Given the description of an element on the screen output the (x, y) to click on. 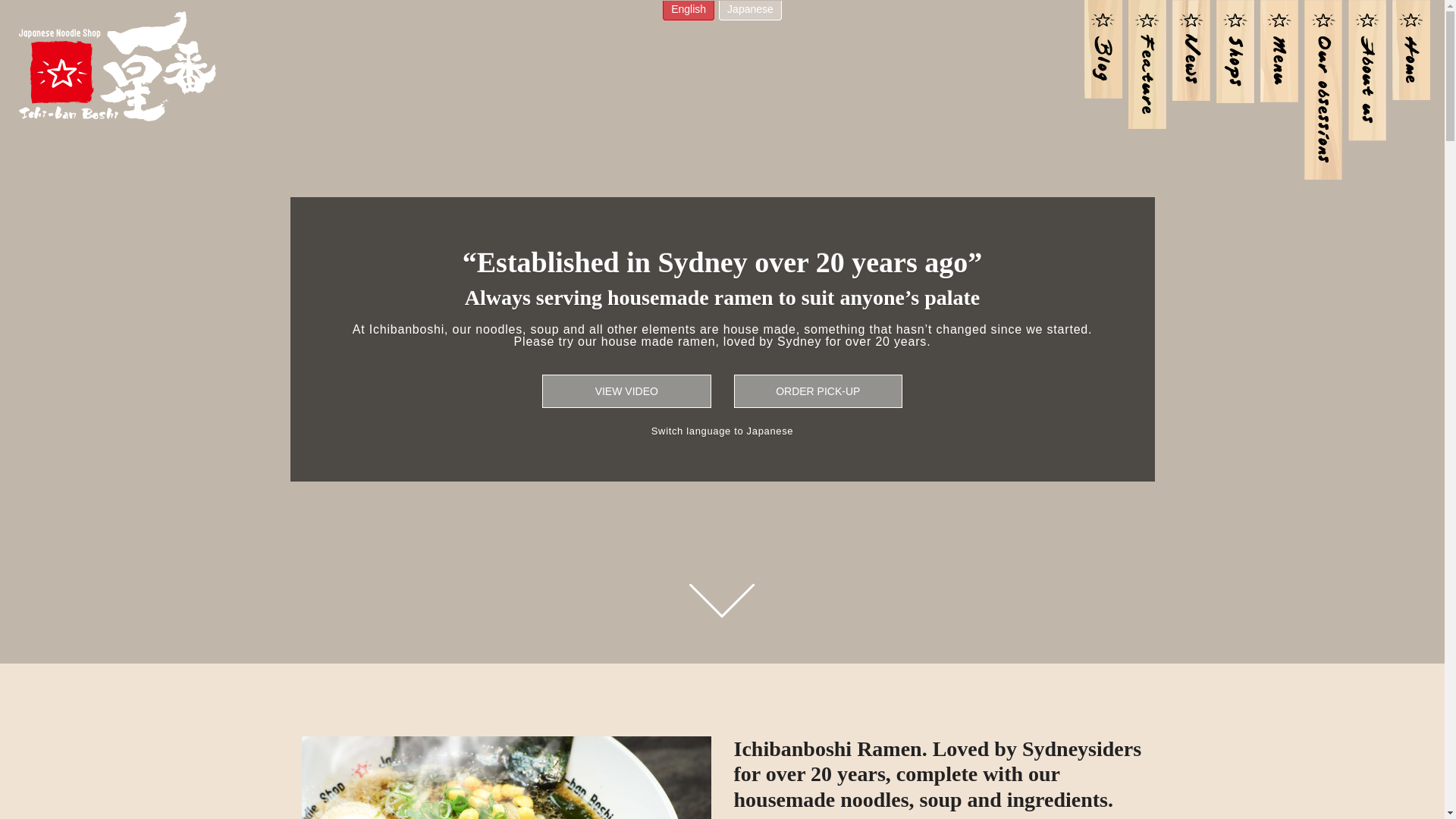
Switch language to Japanese Element type: text (722, 430)
ORDER PICK-UP Element type: text (818, 390)
Japanese Element type: text (749, 10)
VIEW VIDEO Element type: text (626, 390)
English Element type: text (688, 10)
